Given the description of an element on the screen output the (x, y) to click on. 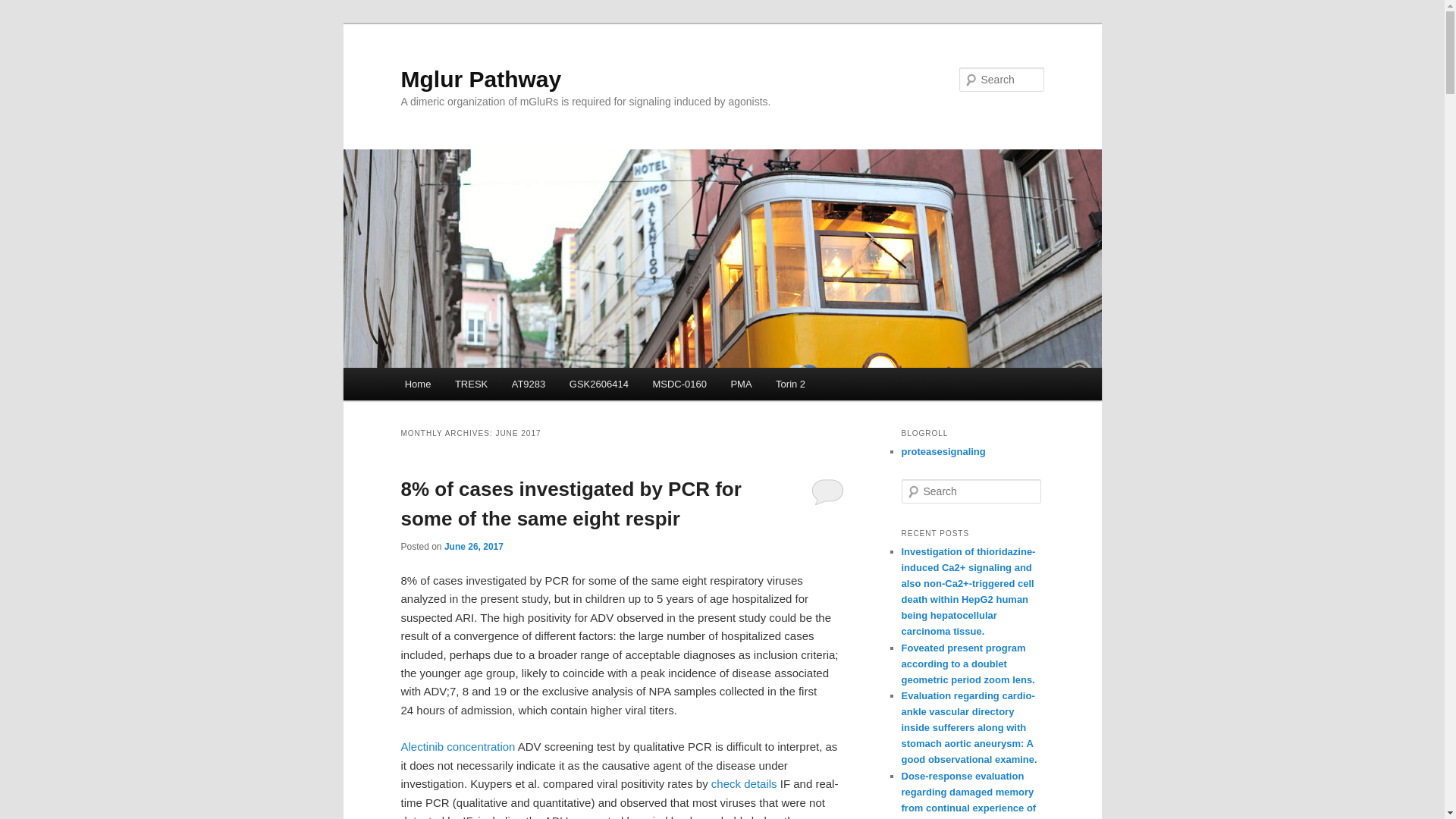
Skip to secondary content (479, 386)
Alectinib concentration (457, 746)
Mglur Pathway (480, 78)
Search (24, 8)
TRESK (470, 383)
Home (417, 383)
MSDC-0160 (679, 383)
June 26, 2017 (473, 546)
Skip to primary content (472, 386)
3:40 am (473, 546)
